Given the description of an element on the screen output the (x, y) to click on. 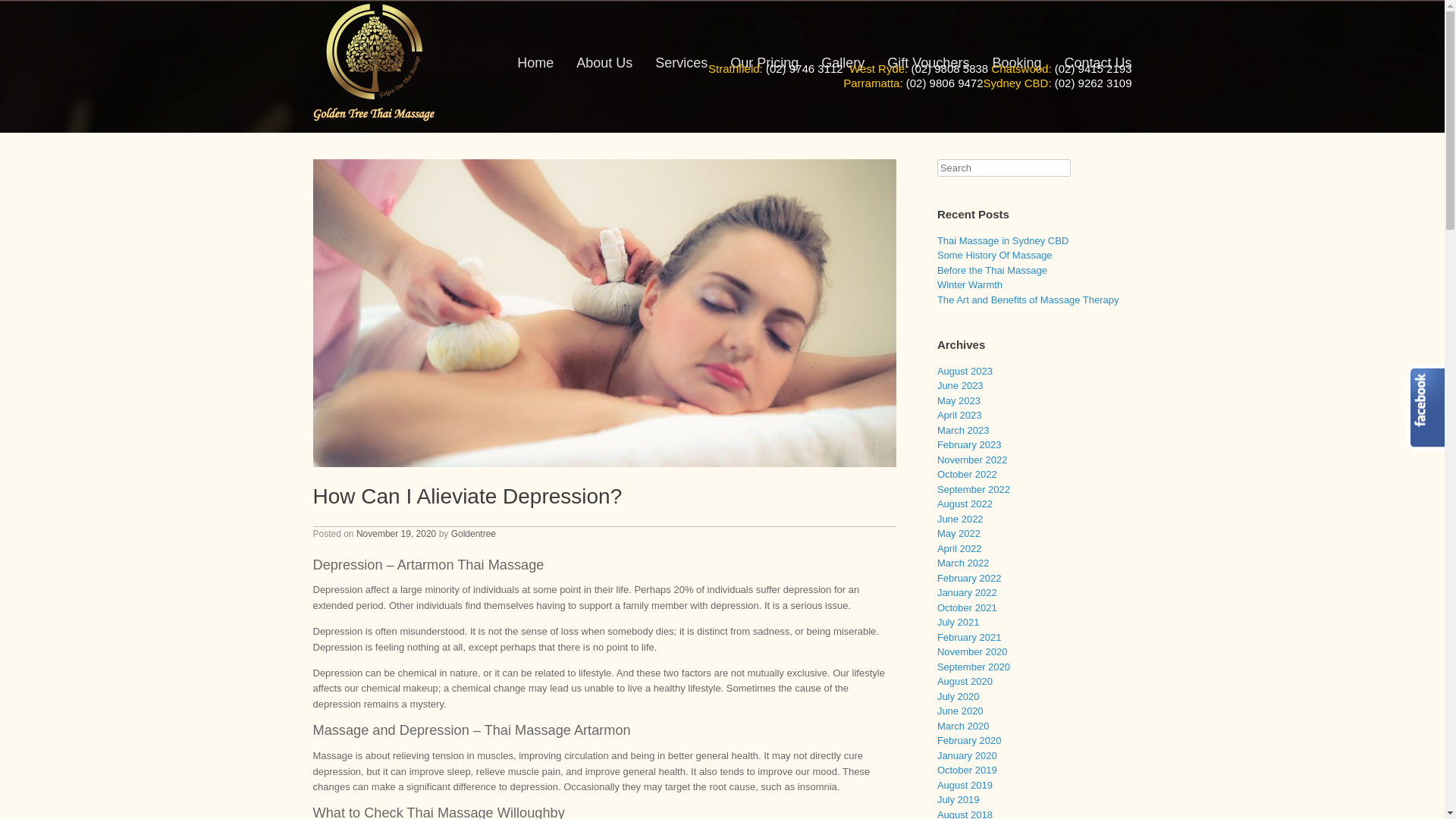
Contact Us Element type: text (1097, 67)
August 2020 Element type: text (964, 681)
February 2021 Element type: text (969, 636)
October 2019 Element type: text (967, 769)
July 2021 Element type: text (958, 621)
January 2020 Element type: text (967, 754)
September 2022 Element type: text (973, 489)
March 2022 Element type: text (963, 562)
Gift Vouchers Element type: text (928, 67)
June 2023 Element type: text (960, 385)
February 2020 Element type: text (969, 740)
March 2020 Element type: text (963, 725)
Before the Thai Massage Element type: text (992, 269)
November 2022 Element type: text (972, 458)
Goldentree Element type: text (473, 533)
Some History Of Massage Element type: text (994, 254)
Winter Warmth Element type: text (969, 284)
August 2023 Element type: text (964, 370)
August 2022 Element type: text (964, 503)
January 2022 Element type: text (967, 592)
Gallery Element type: text (842, 67)
About Us Element type: text (604, 67)
Golden Tree Thai Massage Element type: hover (372, 62)
June 2022 Element type: text (960, 518)
September 2020 Element type: text (973, 666)
Booking Element type: text (1016, 67)
June 2020 Element type: text (960, 710)
Services Element type: text (681, 67)
May 2022 Element type: text (958, 533)
August 2019 Element type: text (964, 784)
February 2023 Element type: text (969, 444)
The Art and Benefits of Massage Therapy Element type: text (1028, 299)
October 2022 Element type: text (967, 474)
February 2022 Element type: text (969, 577)
November 19, 2020 Element type: text (396, 533)
Thai Massage in Sydney CBD Element type: text (1002, 240)
April 2023 Element type: text (959, 414)
Search Element type: text (31, 14)
July 2019 Element type: text (958, 799)
April 2022 Element type: text (959, 548)
July 2020 Element type: text (958, 695)
May 2023 Element type: text (958, 399)
Our Pricing Element type: text (764, 67)
October 2021 Element type: text (967, 607)
March 2023 Element type: text (963, 430)
How Can I Alieviate Depression? Element type: text (466, 496)
November 2020 Element type: text (972, 651)
Home Element type: text (535, 67)
